Given the description of an element on the screen output the (x, y) to click on. 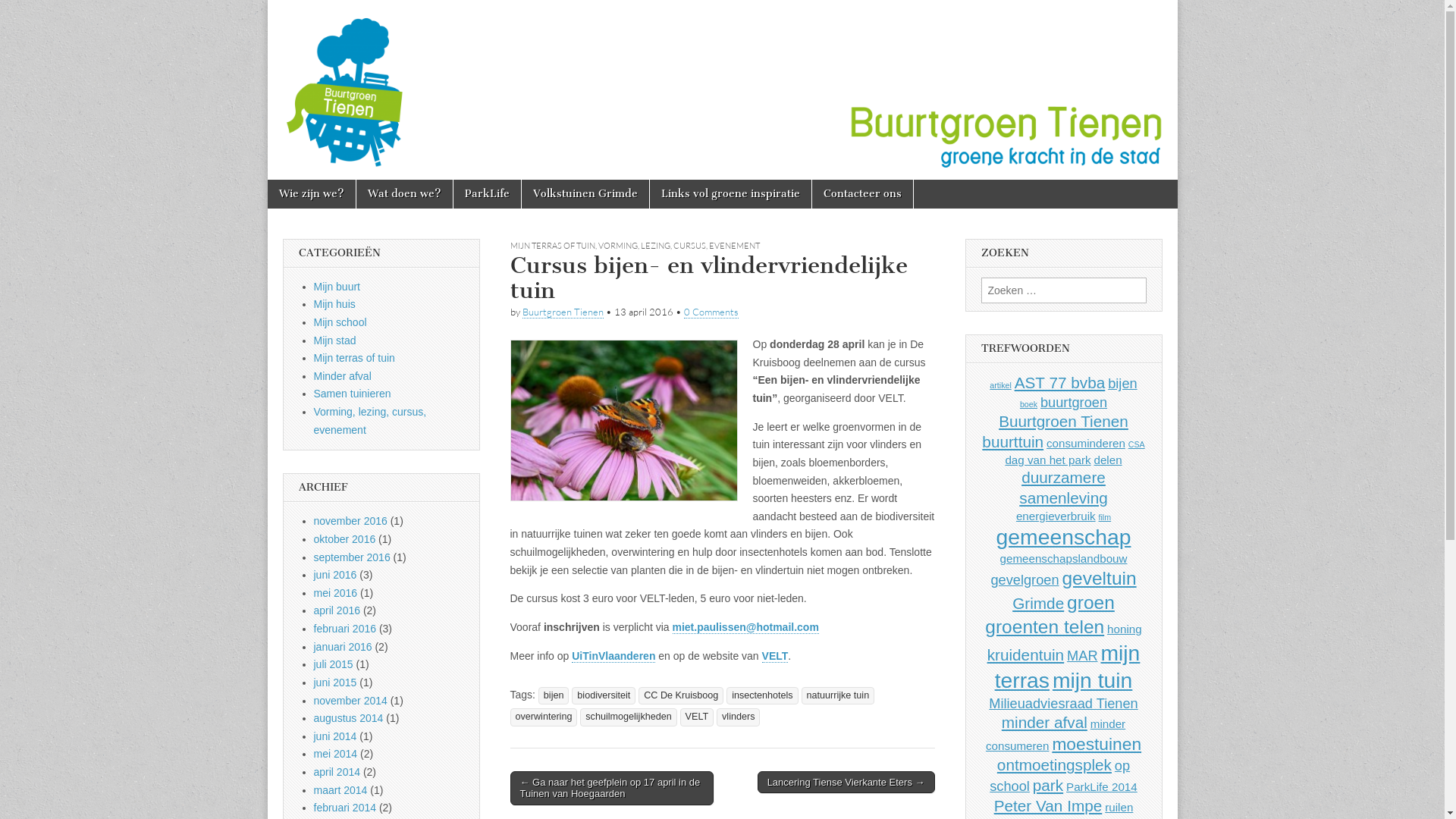
0 Comments Element type: text (711, 311)
mijn terras Element type: text (1067, 666)
UiTinVlaanderen Element type: text (613, 655)
mijn tuin Element type: text (1092, 680)
film Element type: text (1104, 516)
groen Element type: text (1090, 602)
moestuinen Element type: text (1096, 743)
honing Element type: text (1124, 628)
consuminderen Element type: text (1085, 442)
bijen Element type: text (1122, 383)
Minder afval Element type: text (342, 376)
biodiversiteit Element type: text (603, 695)
VELT Element type: text (697, 716)
februari 2014 Element type: text (344, 807)
Milieuadviesraad Tienen Element type: text (1062, 703)
overwintering Element type: text (543, 716)
vlinders Element type: text (737, 716)
april 2014 Element type: text (336, 771)
Mijn huis Element type: text (334, 304)
ruilen Element type: text (1118, 806)
Mijn buurt Element type: text (336, 286)
Mijn school Element type: text (340, 322)
VELT Element type: text (775, 655)
VORMING, LEZING, CURSUS, EVENEMENT Element type: text (678, 245)
Links vol groene inspiratie Element type: text (729, 193)
dag van het park Element type: text (1047, 459)
Grimde Element type: text (1037, 602)
artikel Element type: text (999, 384)
mei 2014 Element type: text (335, 753)
juni 2016 Element type: text (335, 574)
gemeenschapslandbouw Element type: text (1062, 558)
april 2016 Element type: text (336, 610)
groenten telen Element type: text (1044, 626)
miet.paulissen@hotmail.com Element type: text (744, 627)
buurttuin Element type: text (1012, 441)
juni 2014 Element type: text (335, 736)
november 2016 Element type: text (350, 520)
kruidentuin Element type: text (1025, 654)
Samen tuinieren Element type: text (352, 393)
Buurtgroen Tienen Element type: text (561, 311)
energieverbruik Element type: text (1055, 515)
geveltuin Element type: text (1098, 577)
insectenhotels Element type: text (762, 695)
minder afval Element type: text (1044, 722)
januari 2016 Element type: text (342, 646)
november 2014 Element type: text (350, 700)
juni 2015 Element type: text (335, 682)
MAR Element type: text (1082, 655)
februari 2016 Element type: text (344, 628)
juli 2015 Element type: text (333, 664)
gevelgroen Element type: text (1024, 579)
maart 2014 Element type: text (340, 790)
Wat doen we? Element type: text (404, 193)
boek Element type: text (1028, 403)
Buurtgroen Tienen Element type: text (389, 58)
Contacteer ons Element type: text (861, 193)
Buurtgroen Tienen Element type: text (1063, 420)
op school Element type: text (1059, 775)
MIJN TERRAS OF TUIN Element type: text (551, 245)
augustus 2014 Element type: text (348, 718)
Peter Van Impe Element type: text (1048, 805)
CC De Kruisboog Element type: text (680, 695)
buurtgroen Element type: text (1073, 402)
Buurtgroen Tienen Element type: hover (721, 89)
schuilmogelijkheden Element type: text (628, 716)
oktober 2016 Element type: text (344, 539)
minder consumeren Element type: text (1055, 734)
Mijn terras of tuin Element type: text (354, 357)
september 2016 Element type: text (351, 557)
Zoeken Element type: text (24, 12)
Volkstuinen Grimde Element type: text (585, 193)
AST 77 bvba Element type: text (1059, 382)
Mijn stad Element type: text (334, 340)
gemeenschap Element type: text (1063, 536)
delen Element type: text (1107, 459)
ParkLife Element type: text (486, 193)
ontmoetingsplek Element type: text (1054, 764)
mei 2016 Element type: text (335, 592)
park Element type: text (1047, 784)
CSA Element type: text (1136, 443)
ParkLife 2014 Element type: text (1101, 786)
Vorming, lezing, cursus, evenement Element type: text (369, 420)
duurzamere samenleving Element type: text (1063, 487)
Skip to content Element type: text (305, 187)
natuurrijke tuin Element type: text (838, 695)
bijen Element type: text (553, 695)
Wie zijn we? Element type: text (310, 193)
